Given the description of an element on the screen output the (x, y) to click on. 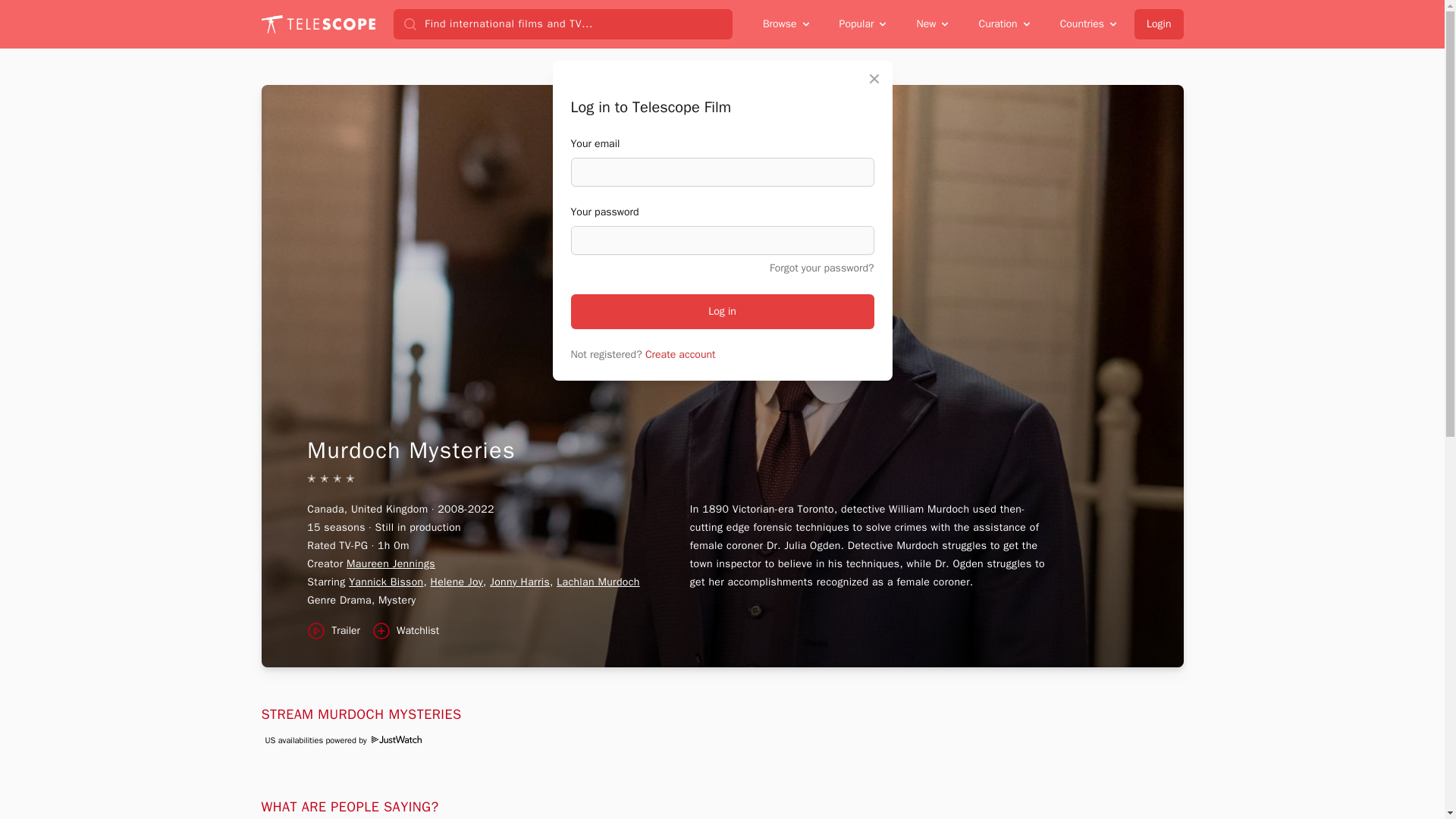
Browse (787, 24)
Curation (1004, 24)
New (933, 24)
Countries (1089, 24)
Popular (864, 24)
Log in (721, 311)
